Given the description of an element on the screen output the (x, y) to click on. 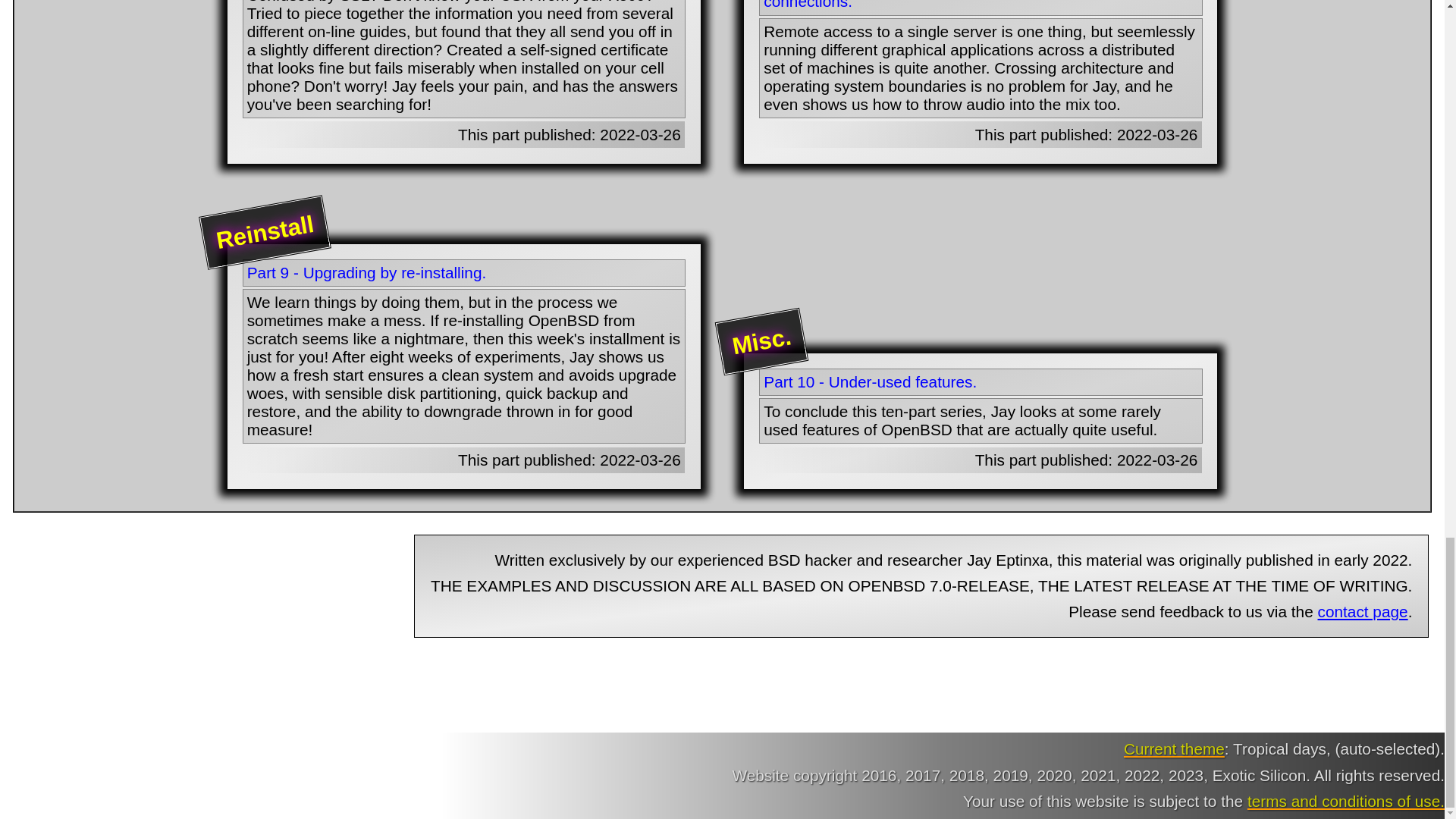
Part 9 - Upgrading by re-installing. (464, 272)
contact page (1362, 610)
Part 8 - Remote X sessions and networked sndio connections. (979, 5)
Current theme (1174, 748)
Part 10 - Under-used features. (979, 382)
